Given the description of an element on the screen output the (x, y) to click on. 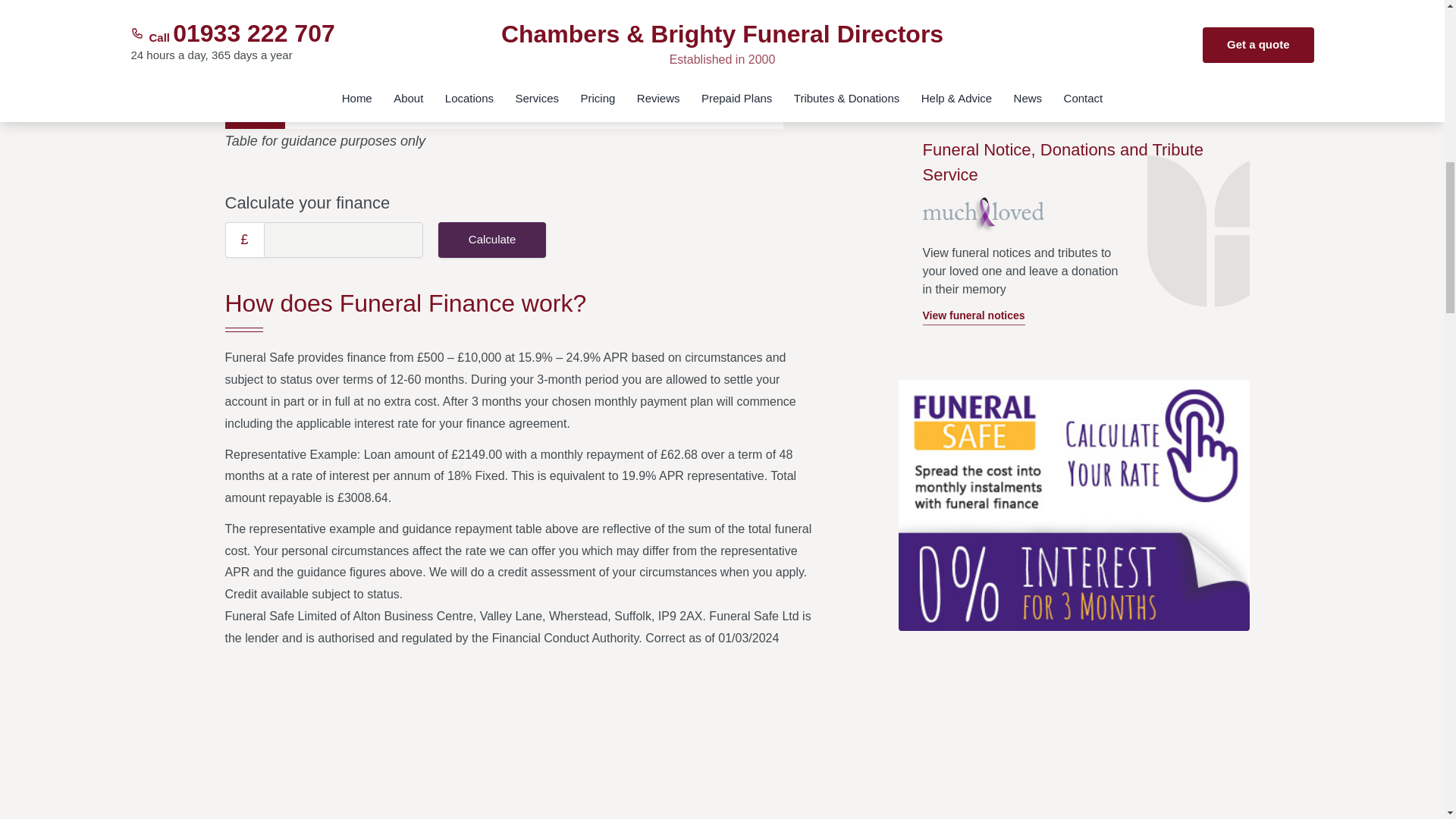
YouTube video player (521, 739)
Calculate (492, 239)
